Given the description of an element on the screen output the (x, y) to click on. 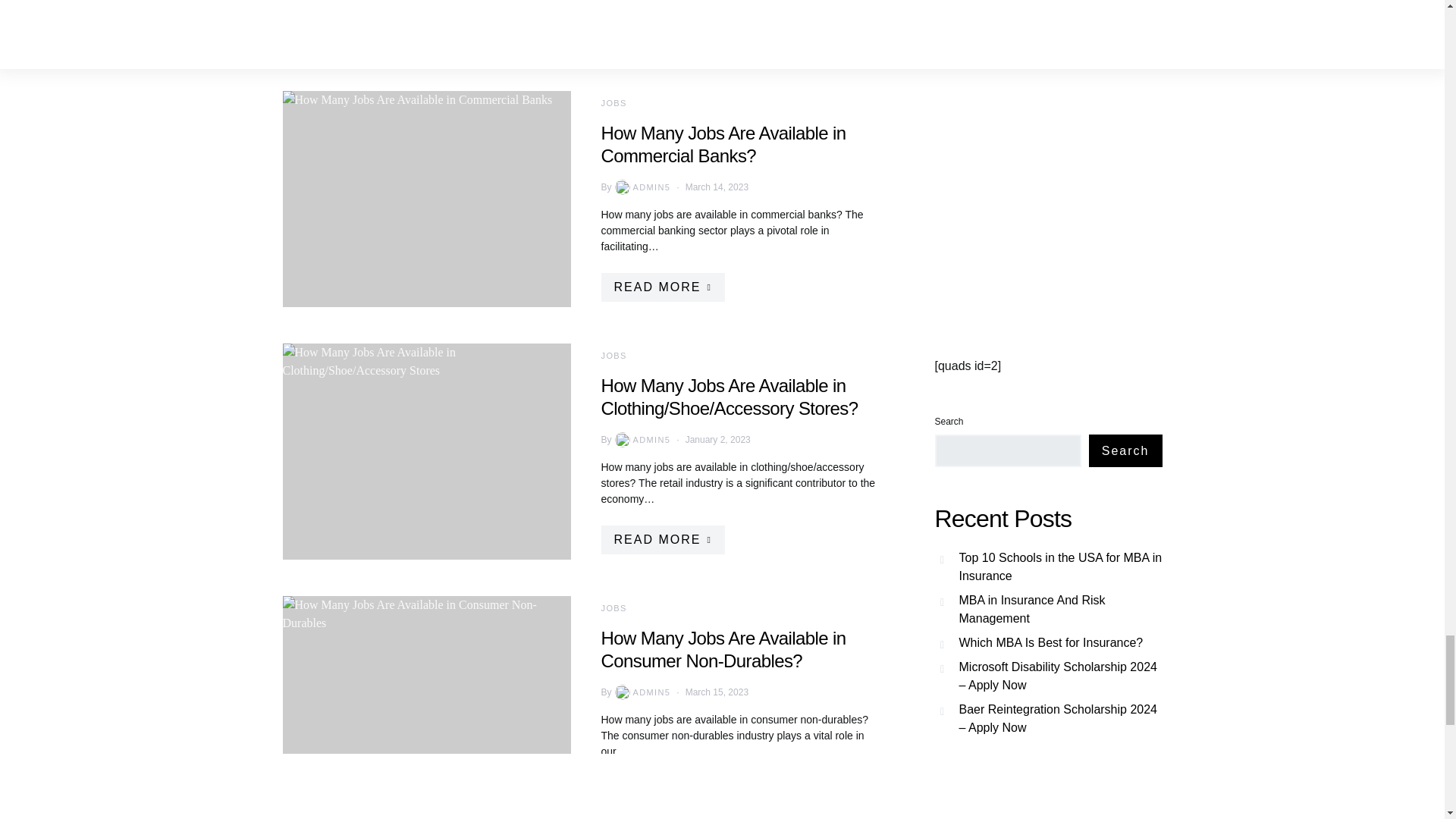
View all posts by Admin5 (641, 439)
View all posts by Admin5 (641, 692)
View all posts by Admin5 (641, 186)
